Given the description of an element on the screen output the (x, y) to click on. 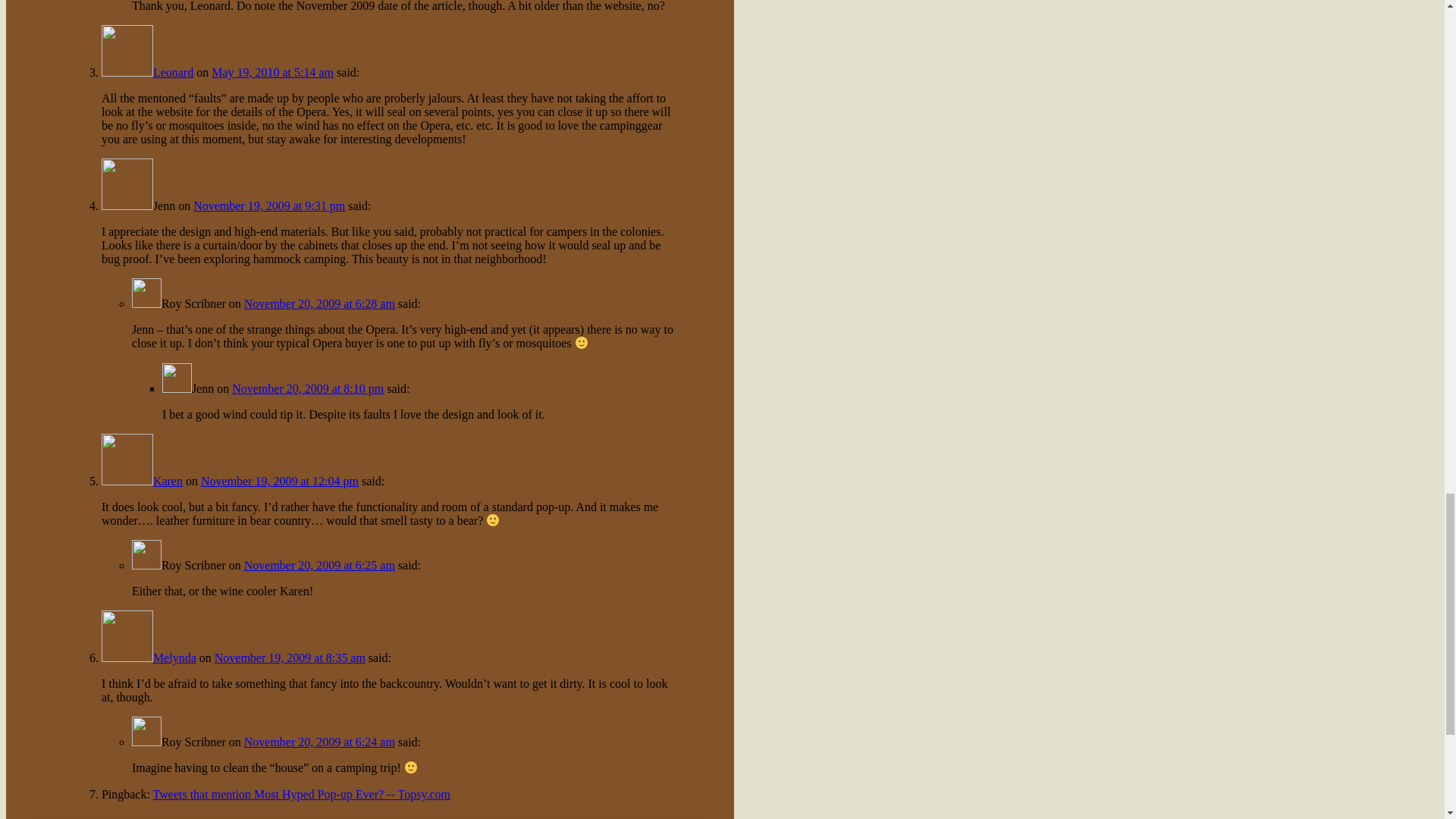
November 19, 2009 at 9:31 pm (269, 205)
Leonard (172, 72)
May 19, 2010 at 5:14 am (272, 72)
